Given the description of an element on the screen output the (x, y) to click on. 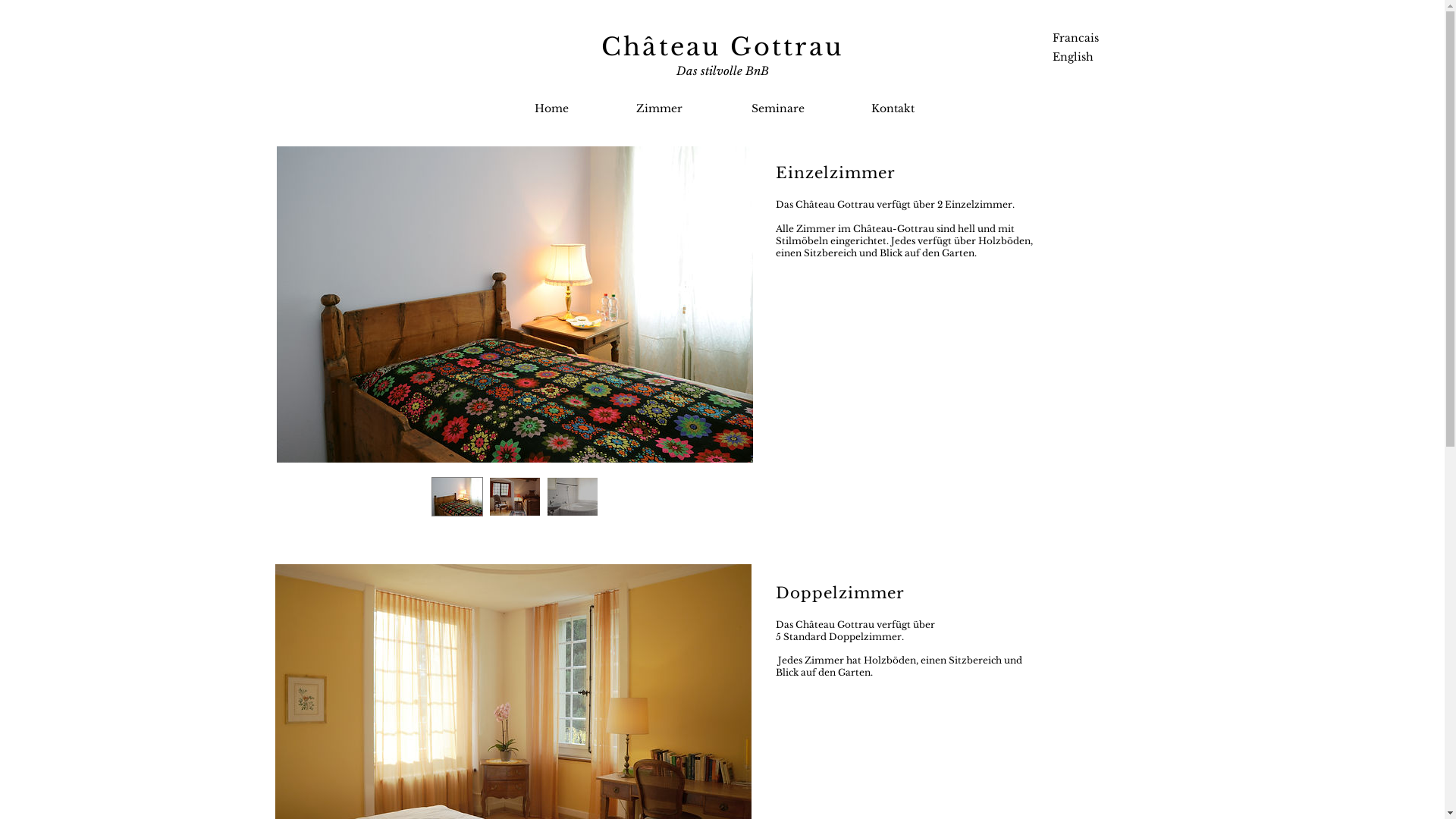
Seminare Element type: text (777, 109)
Kontakt Element type: text (892, 109)
Francais Element type: text (1069, 38)
Zimmer Element type: text (658, 109)
Home Element type: text (551, 109)
Das stilvolle BnB Element type: text (722, 70)
English Element type: text (1066, 57)
